Given the description of an element on the screen output the (x, y) to click on. 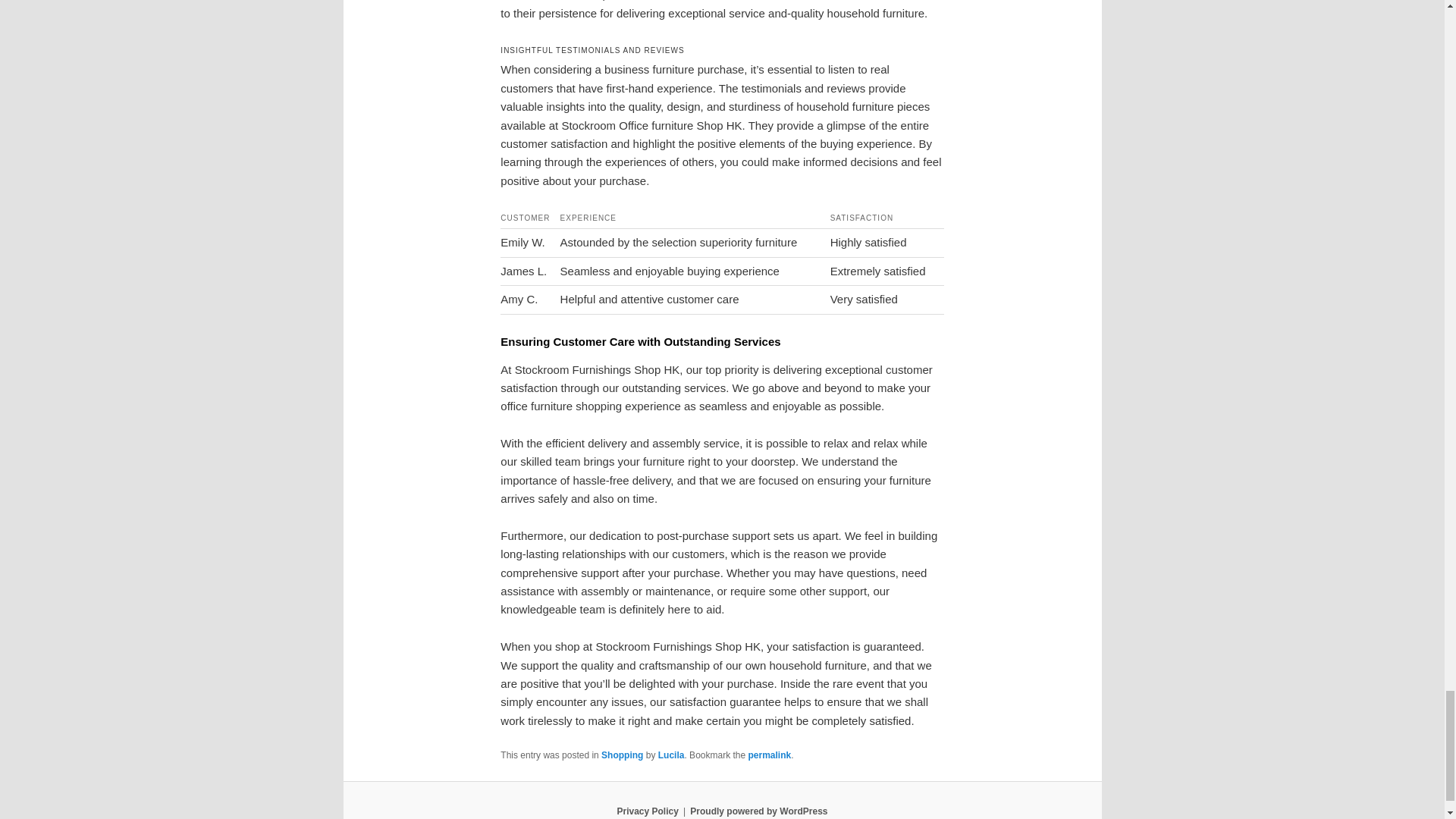
permalink (769, 755)
Shopping (622, 755)
Semantic Personal Publishing Platform (758, 810)
Lucila (671, 755)
Privacy Policy (646, 810)
Proudly powered by WordPress (758, 810)
